Given the description of an element on the screen output the (x, y) to click on. 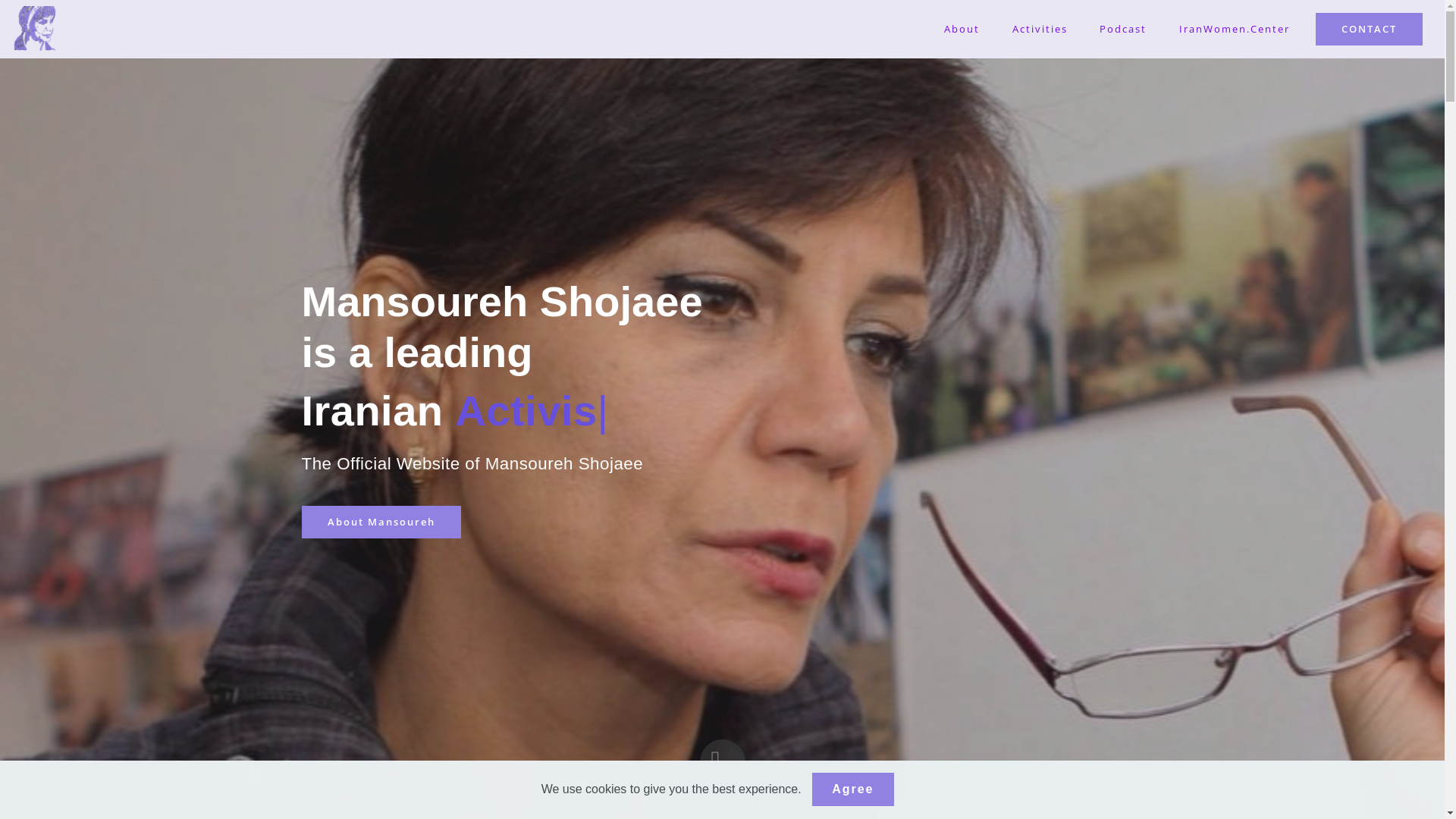
CONTACT Element type: text (1368, 28)
Mansoureh Shojaee Element type: hover (35, 29)
Activities Element type: text (1039, 29)
IranWomen.Center Element type: text (1234, 29)
About Element type: text (962, 29)
Podcast Element type: text (1123, 29)
Agree Element type: text (852, 789)
About Mansoureh Element type: text (381, 521)
